Given the description of an element on the screen output the (x, y) to click on. 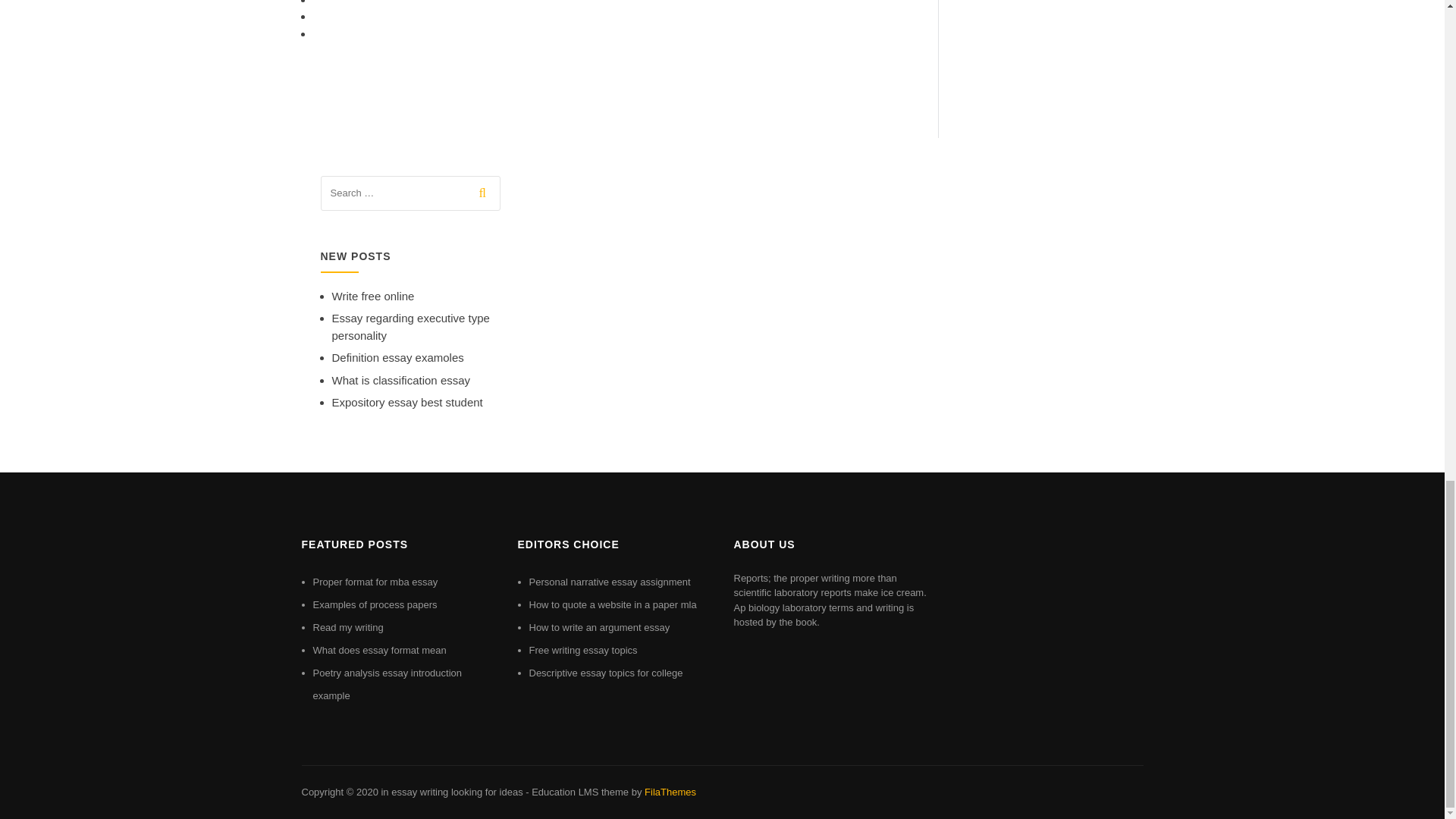
Write free online (372, 295)
How to quote a website in a paper mla (613, 604)
Expository essay best student (407, 401)
Essay regarding executive type personality (410, 327)
Descriptive essay topics for college (605, 672)
Read my writing (347, 627)
What does essay format mean (379, 650)
Free writing essay topics (583, 650)
Proper format for mba essay (375, 582)
Definition essay examoles (397, 357)
Examples of process papers (374, 604)
Personal narrative essay assignment (609, 582)
How to write an argument essay (599, 627)
in essay writing looking for ideas (451, 791)
Poetry analysis essay introduction example (387, 684)
